Given the description of an element on the screen output the (x, y) to click on. 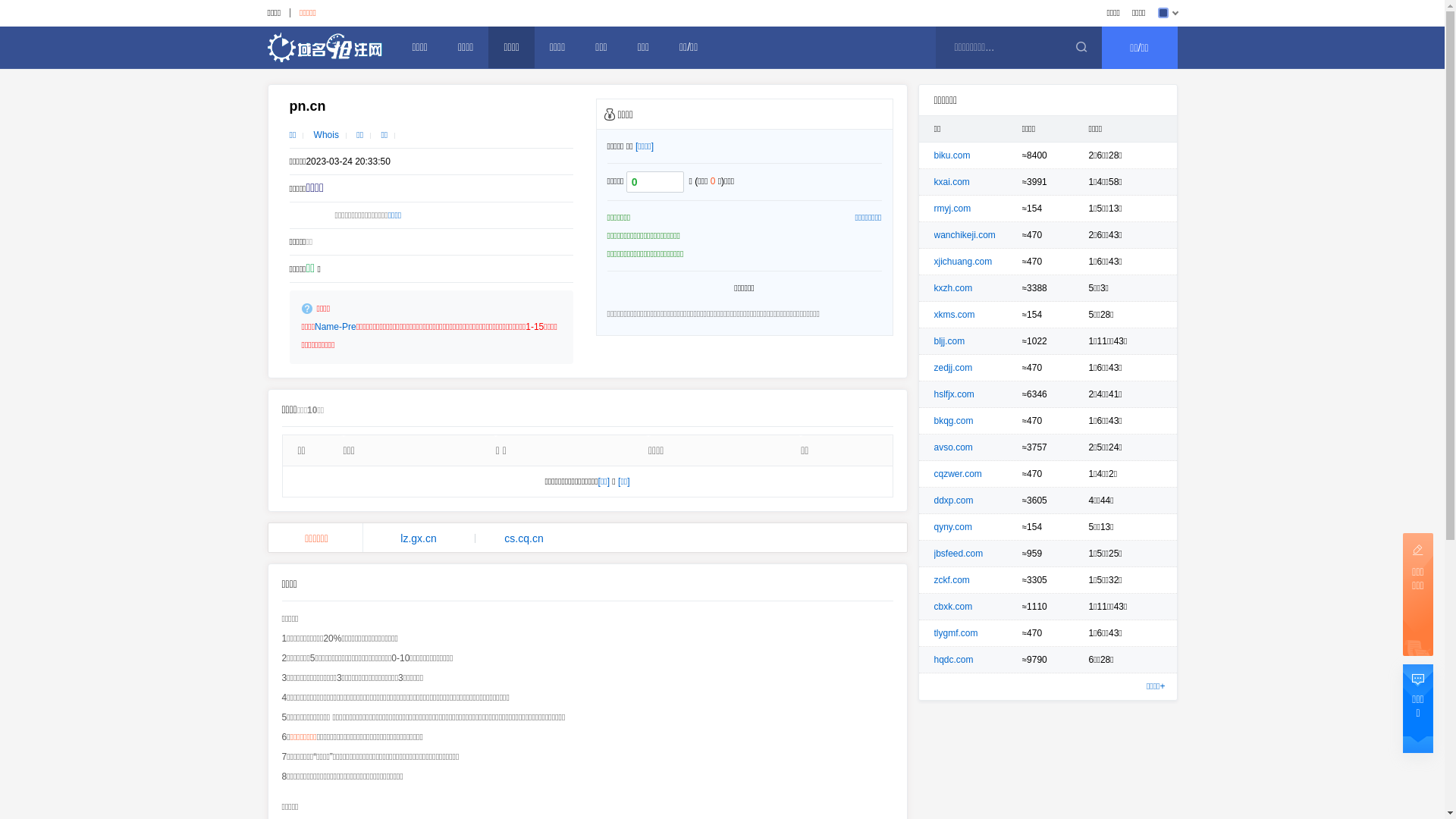
ddxp.com Element type: text (953, 500)
cbxk.com Element type: text (953, 606)
lz.gx.cn Element type: text (417, 538)
Whois Element type: text (326, 134)
avso.com Element type: text (953, 447)
zckf.com Element type: text (951, 579)
xkms.com Element type: text (954, 314)
zedjj.com Element type: text (953, 367)
tlygmf.com Element type: text (956, 632)
cs.cq.cn Element type: text (524, 538)
Name-Pre Element type: text (335, 326)
xjichuang.com Element type: text (963, 261)
hslfjx.com Element type: text (954, 394)
rmyj.com Element type: text (952, 208)
kxai.com Element type: text (951, 181)
wanchikeji.com Element type: text (964, 234)
hqdc.com Element type: text (953, 659)
cqzwer.com Element type: text (958, 473)
jbsfeed.com Element type: text (958, 553)
bljj.com Element type: text (949, 340)
biku.com Element type: text (952, 155)
bkqg.com Element type: text (953, 420)
qyny.com Element type: text (953, 526)
kxzh.com Element type: text (953, 287)
